Given the description of an element on the screen output the (x, y) to click on. 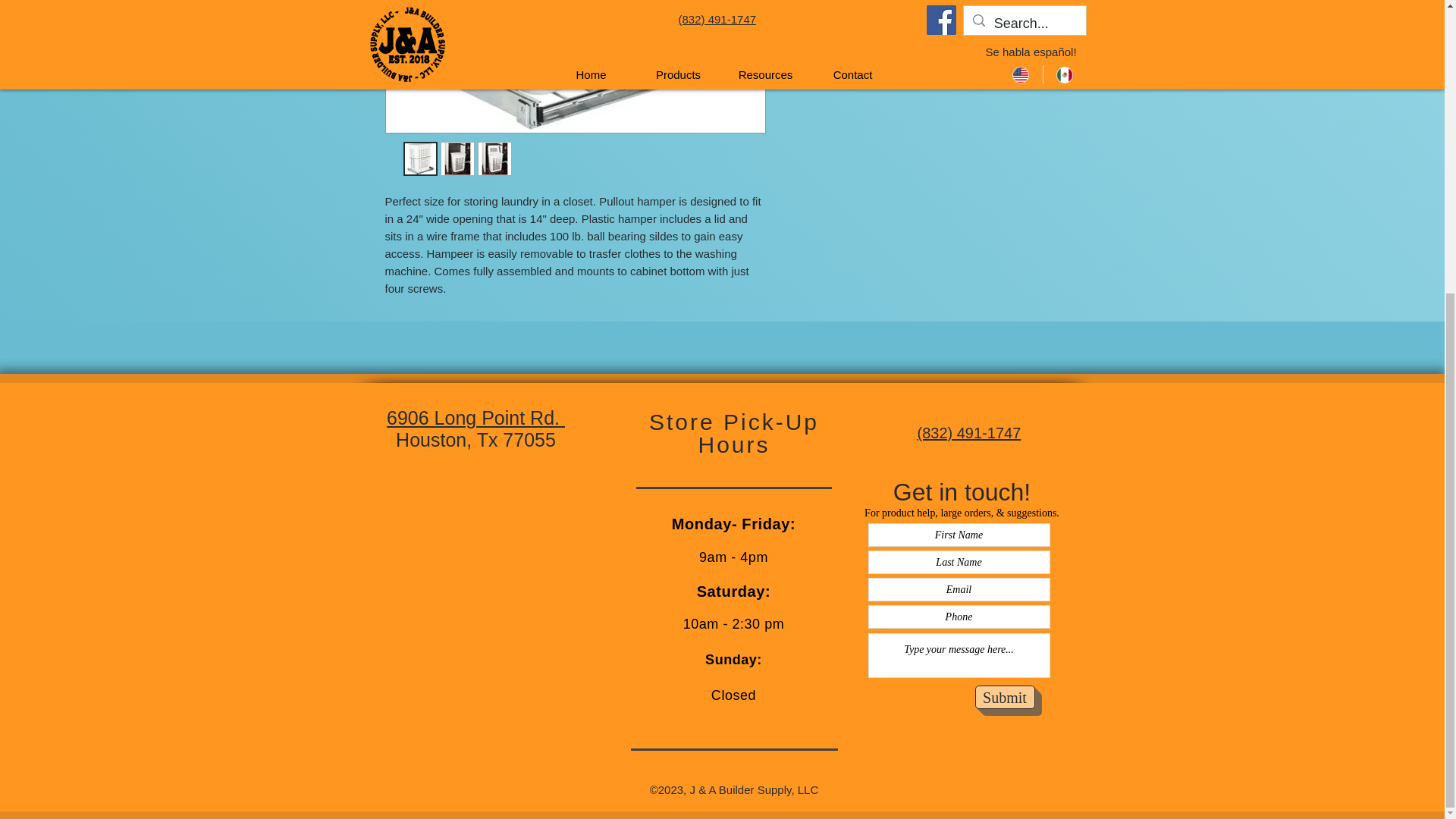
6906 Long Point Rd.  (475, 417)
Submit (1005, 697)
Google Maps (491, 608)
